Given the description of an element on the screen output the (x, y) to click on. 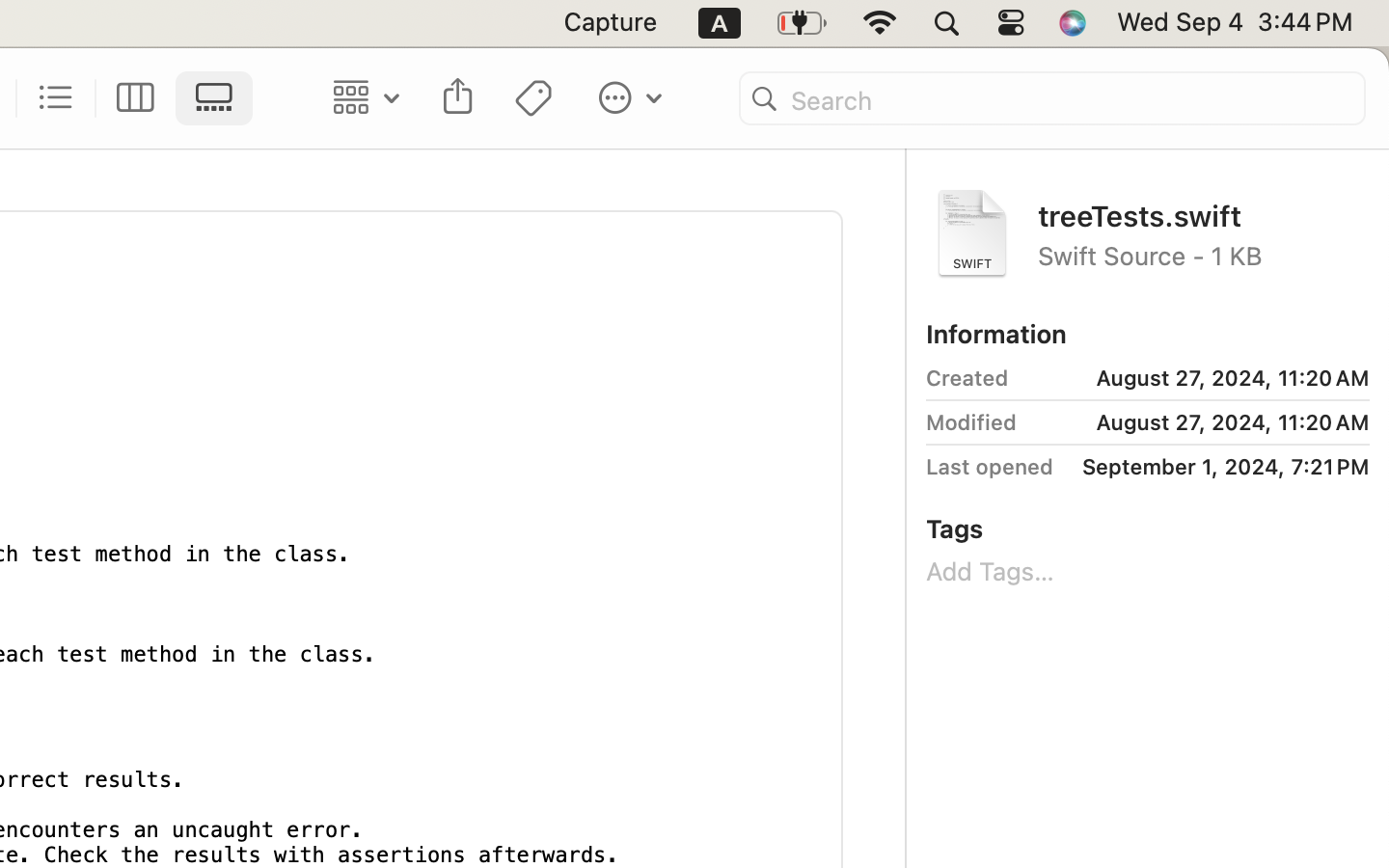
1 Element type: AXRadioButton (219, 97)
Last opened Element type: AXStaticText (989, 466)
Swift Source - 1 KB Element type: AXStaticText (1203, 254)
August 27, 2024, 11:20 AM Element type: AXStaticText (1196, 377)
September 1, 2024, 7:21 PM Element type: AXStaticText (1217, 466)
